Given the description of an element on the screen output the (x, y) to click on. 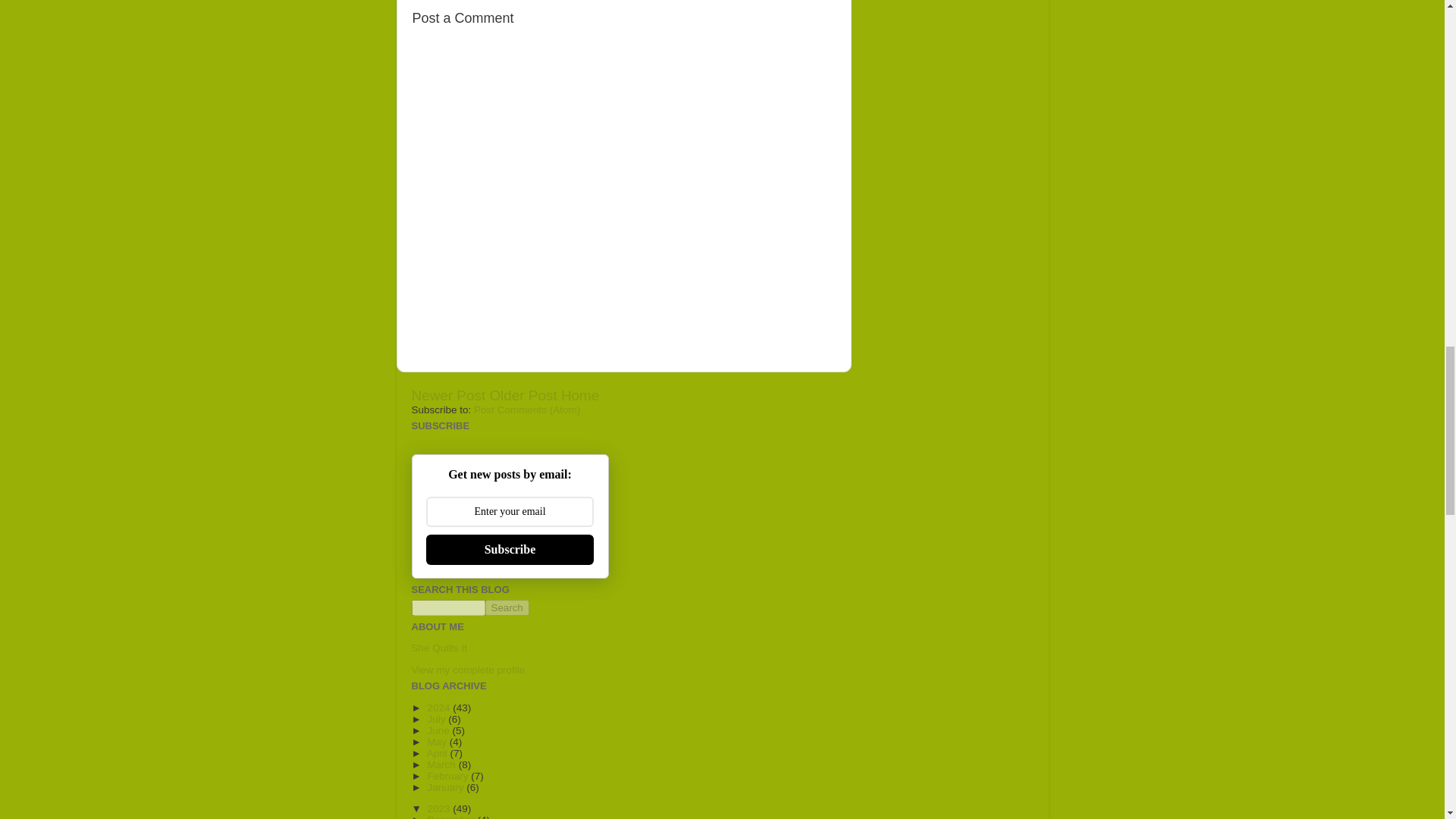
March (442, 764)
Older Post (522, 395)
View my complete profile (467, 669)
Search (506, 607)
Subscribe (510, 549)
Home (579, 395)
June (438, 730)
July (437, 718)
She Quilts It (438, 647)
Search (506, 607)
May (437, 741)
search (447, 607)
Older Post (522, 395)
2024 (439, 707)
Newer Post (447, 395)
